Given the description of an element on the screen output the (x, y) to click on. 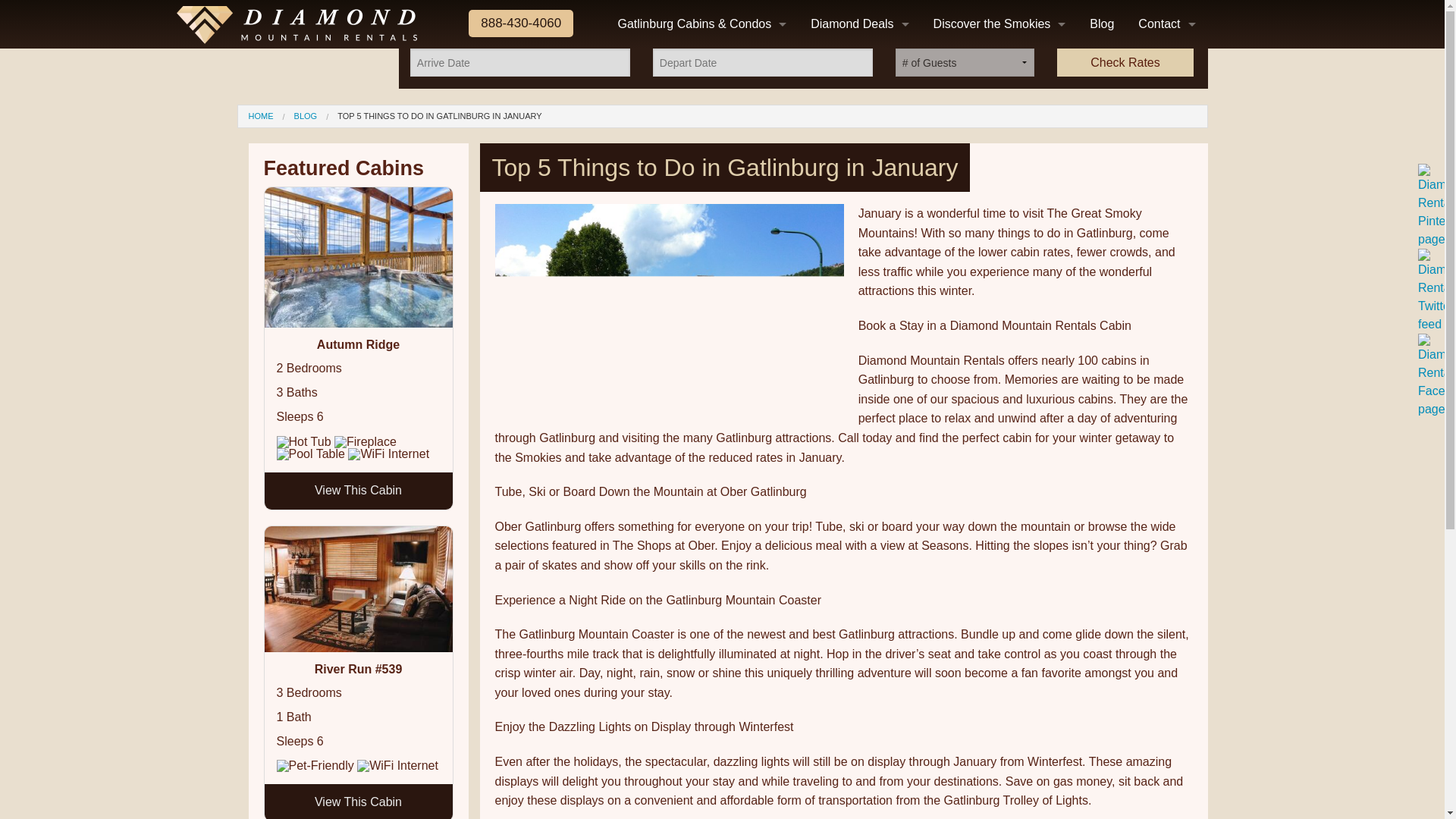
Last Minute Deals (858, 84)
Cabins with Hot Tubs (701, 351)
Discover the Smokies (999, 24)
Demographics (999, 230)
Area Events (999, 84)
Gatlinburg Cabins (999, 351)
WiFi Internet (388, 453)
Free Fun Pass (858, 60)
Pool Table (309, 453)
Fireplace (365, 441)
